Given the description of an element on the screen output the (x, y) to click on. 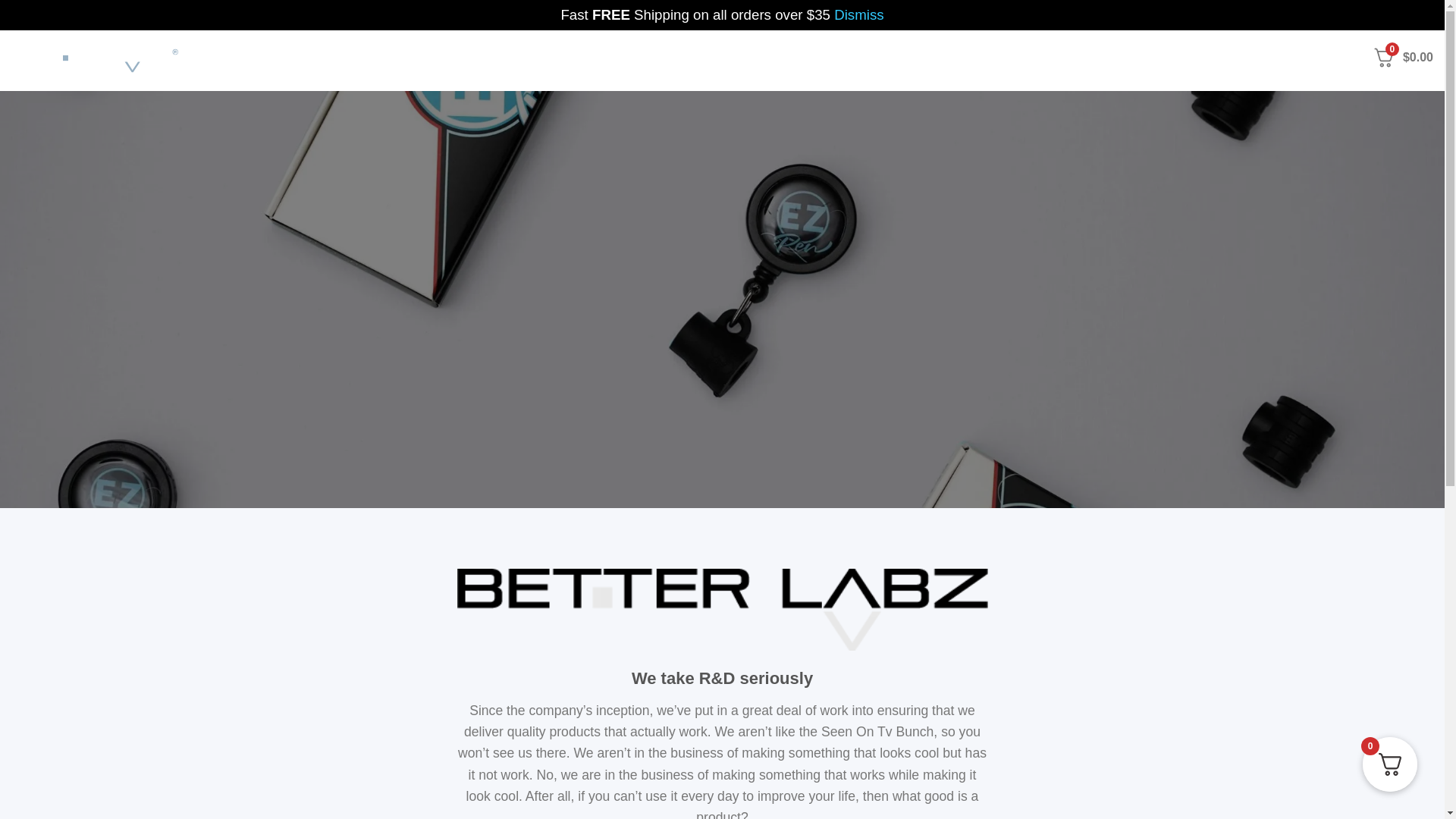
PRODUCTS (1170, 57)
Better Labz - Stop losing your pen! (102, 60)
CONTACT (1322, 57)
ABOUT (1248, 57)
Dismiss (858, 14)
